Given the description of an element on the screen output the (x, y) to click on. 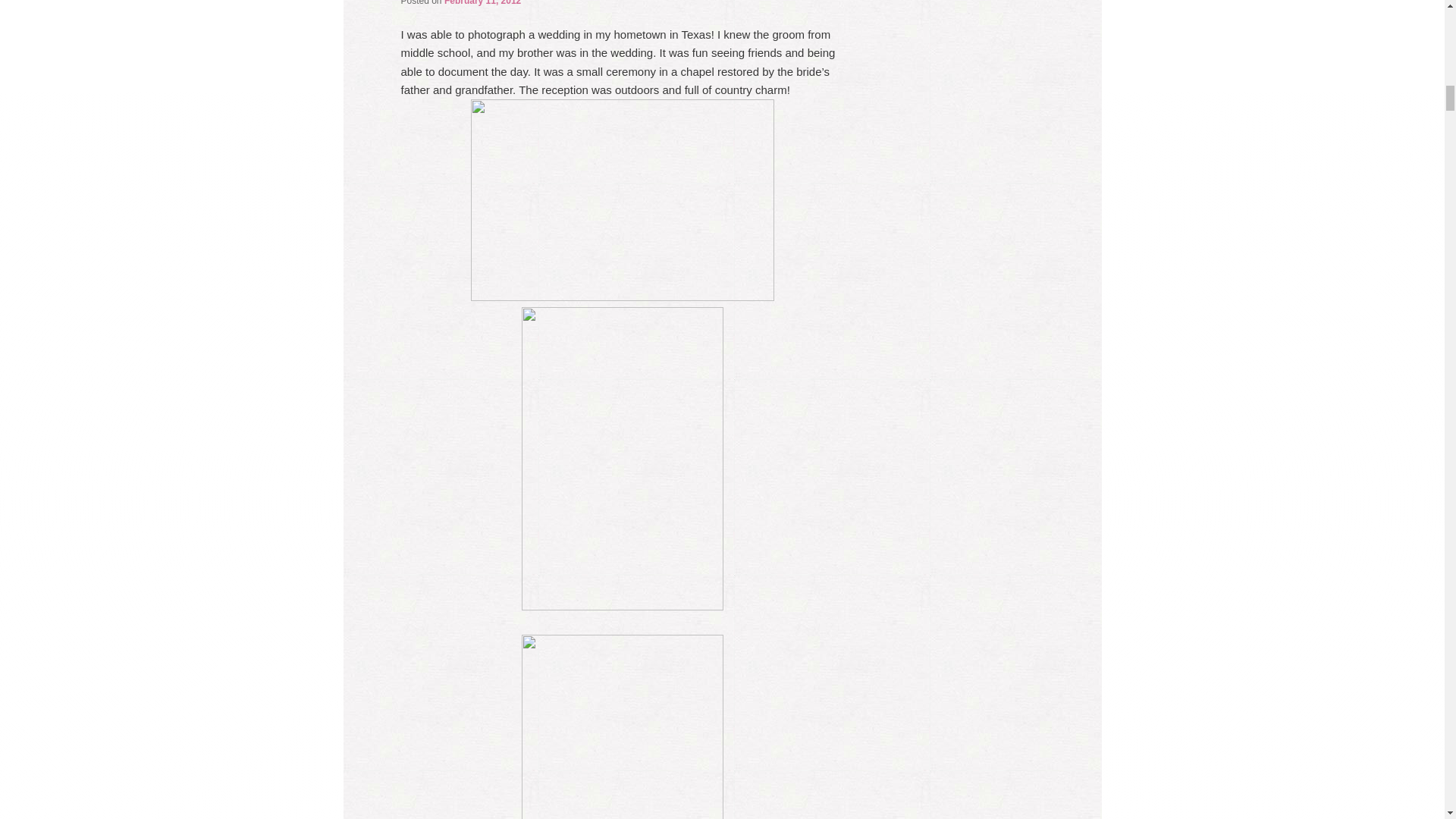
10:37 pm (482, 2)
